Given the description of an element on the screen output the (x, y) to click on. 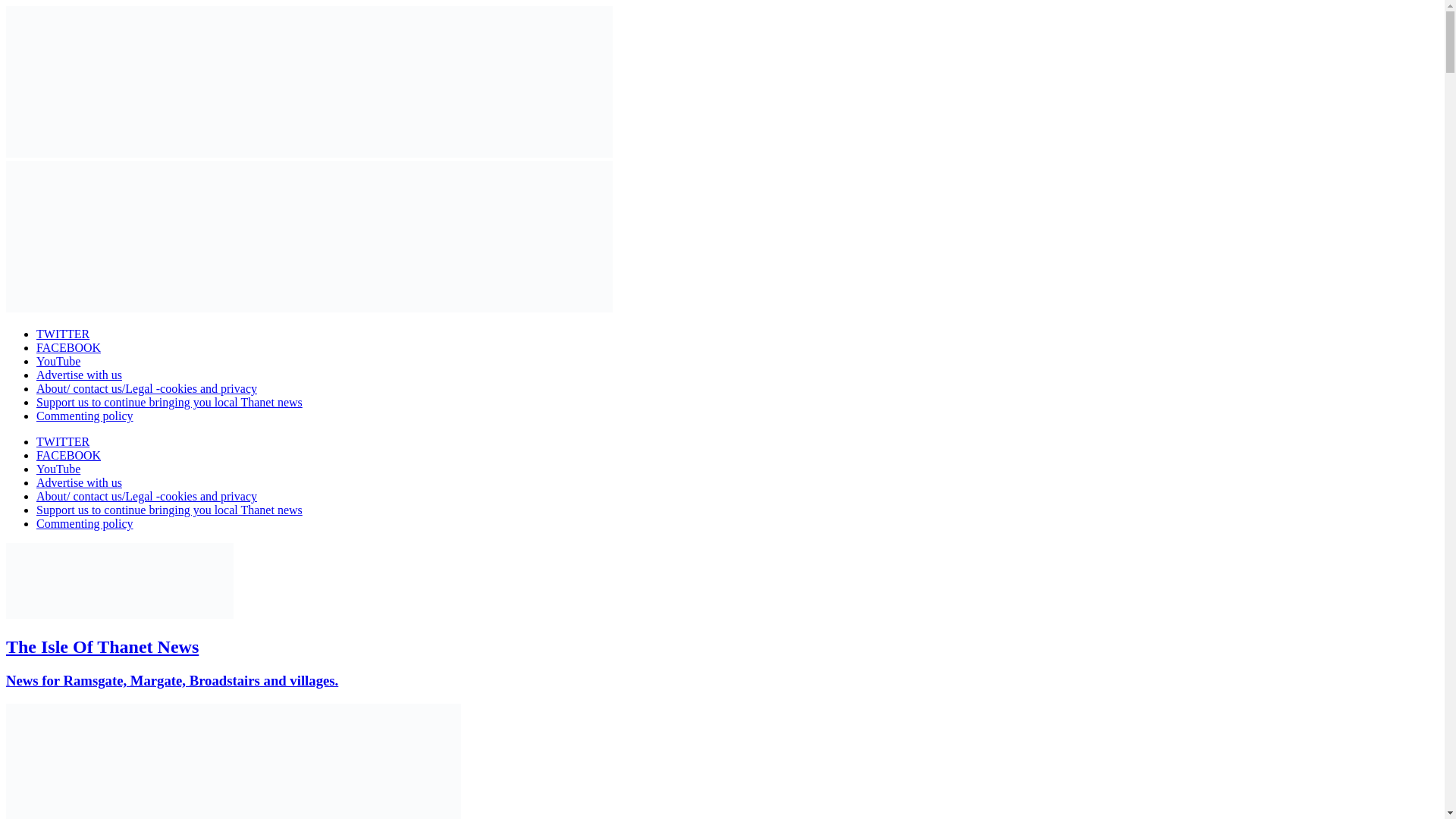
Commenting policy (84, 522)
Support us to continue bringing you local Thanet news (169, 401)
TWITTER (62, 333)
Support us to continue bringing you local Thanet news (169, 509)
Advertise with us (79, 481)
TWITTER (62, 440)
YouTube (58, 360)
YouTube (58, 468)
Commenting policy (84, 415)
FACEBOOK (68, 454)
FACEBOOK (68, 347)
Advertise with us (79, 374)
